Given the description of an element on the screen output the (x, y) to click on. 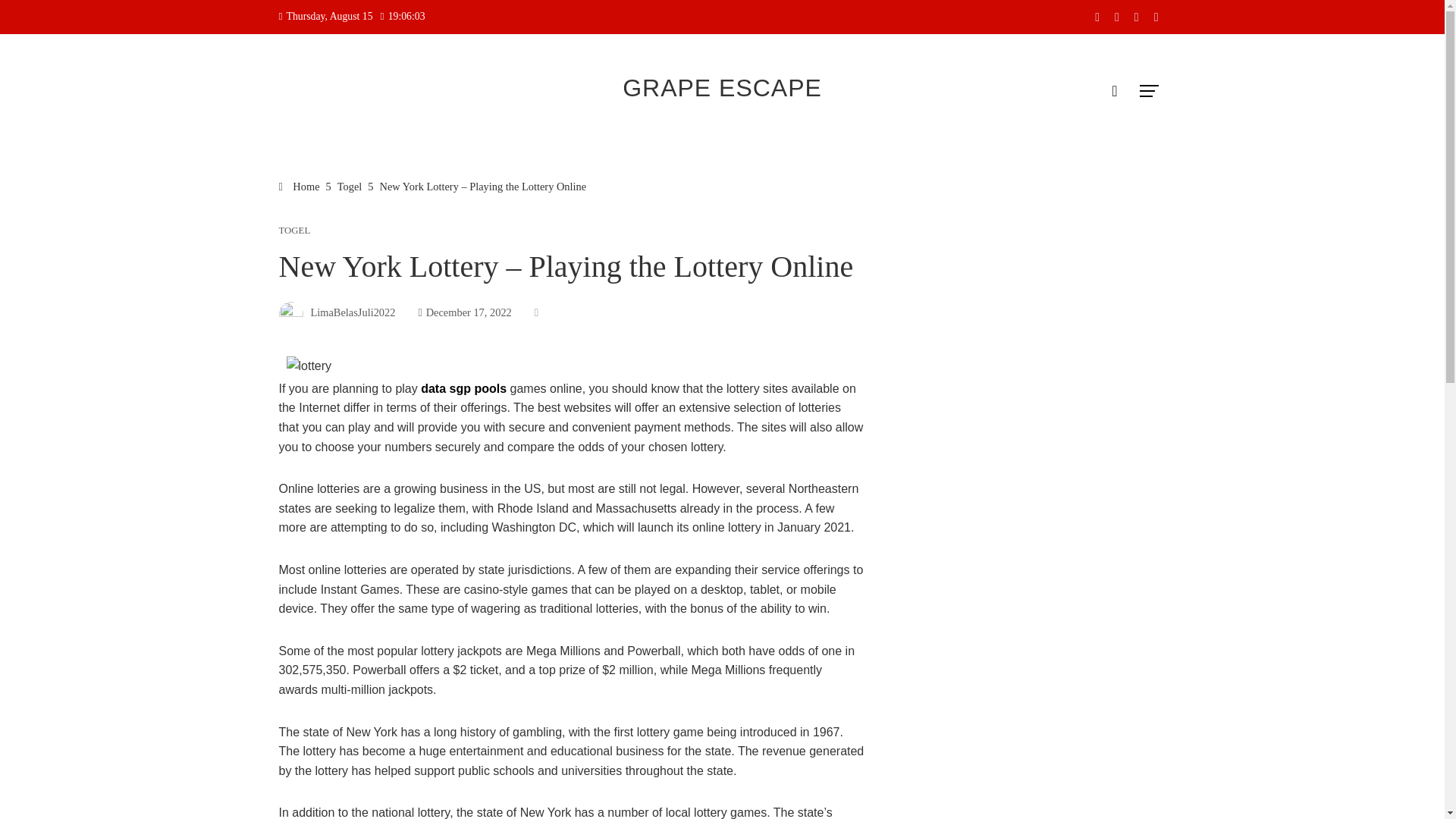
Home (299, 186)
Togel (349, 186)
TOGEL (295, 230)
GRAPE ESCAPE (722, 87)
data sgp pools (463, 388)
